Given the description of an element on the screen output the (x, y) to click on. 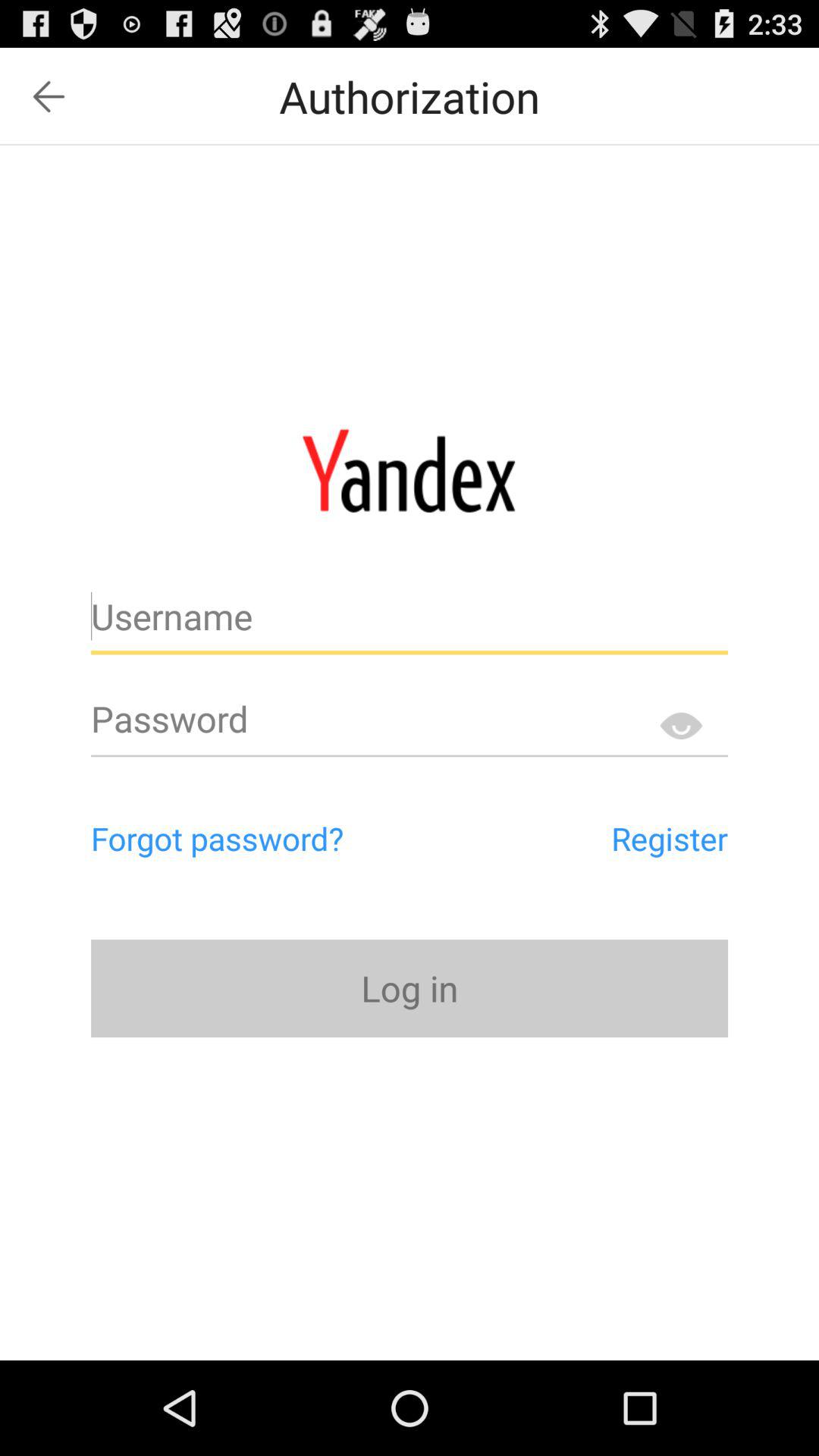
choose item next to authorization (48, 96)
